Given the description of an element on the screen output the (x, y) to click on. 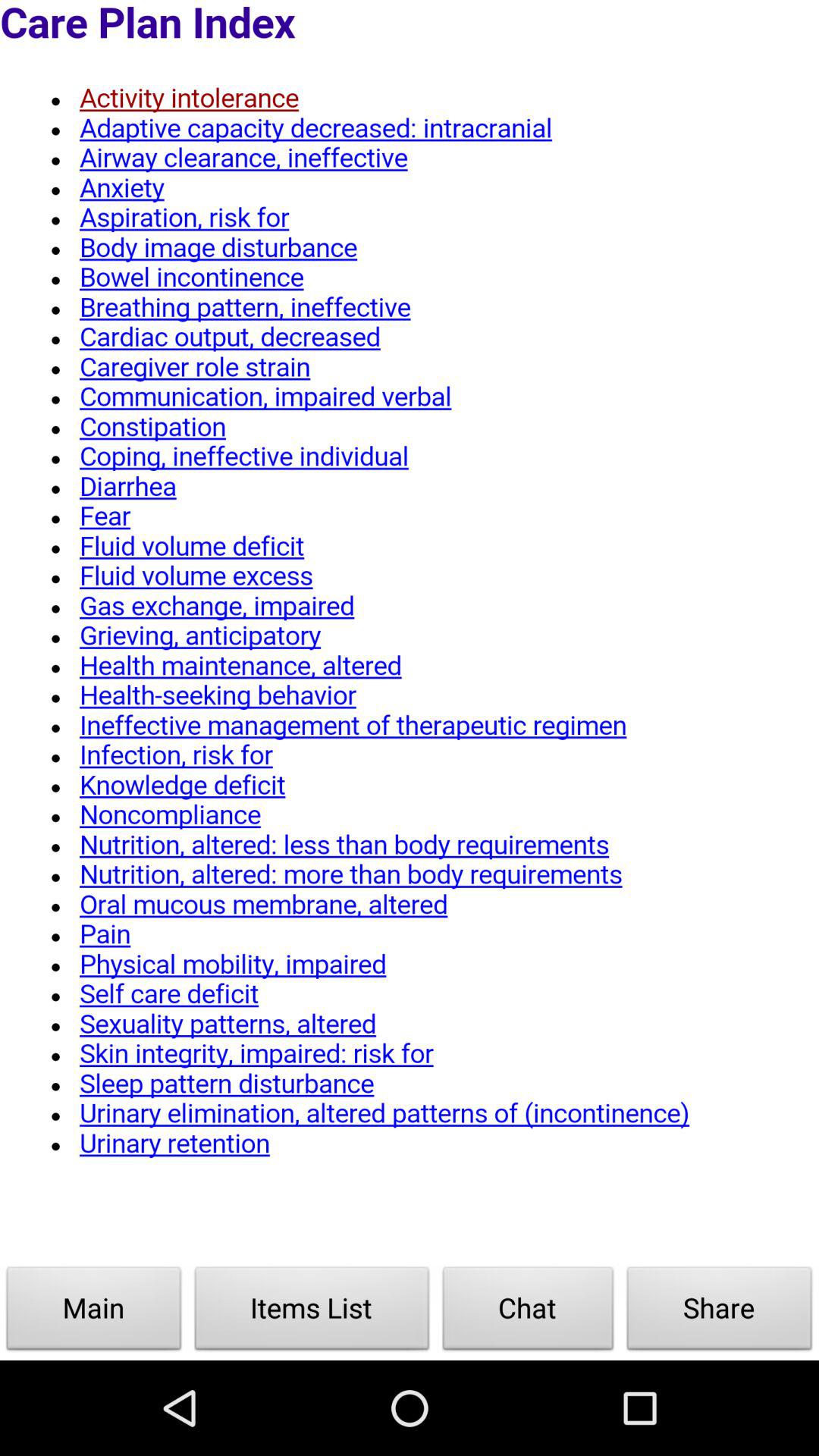
click on the page (409, 632)
